Given the description of an element on the screen output the (x, y) to click on. 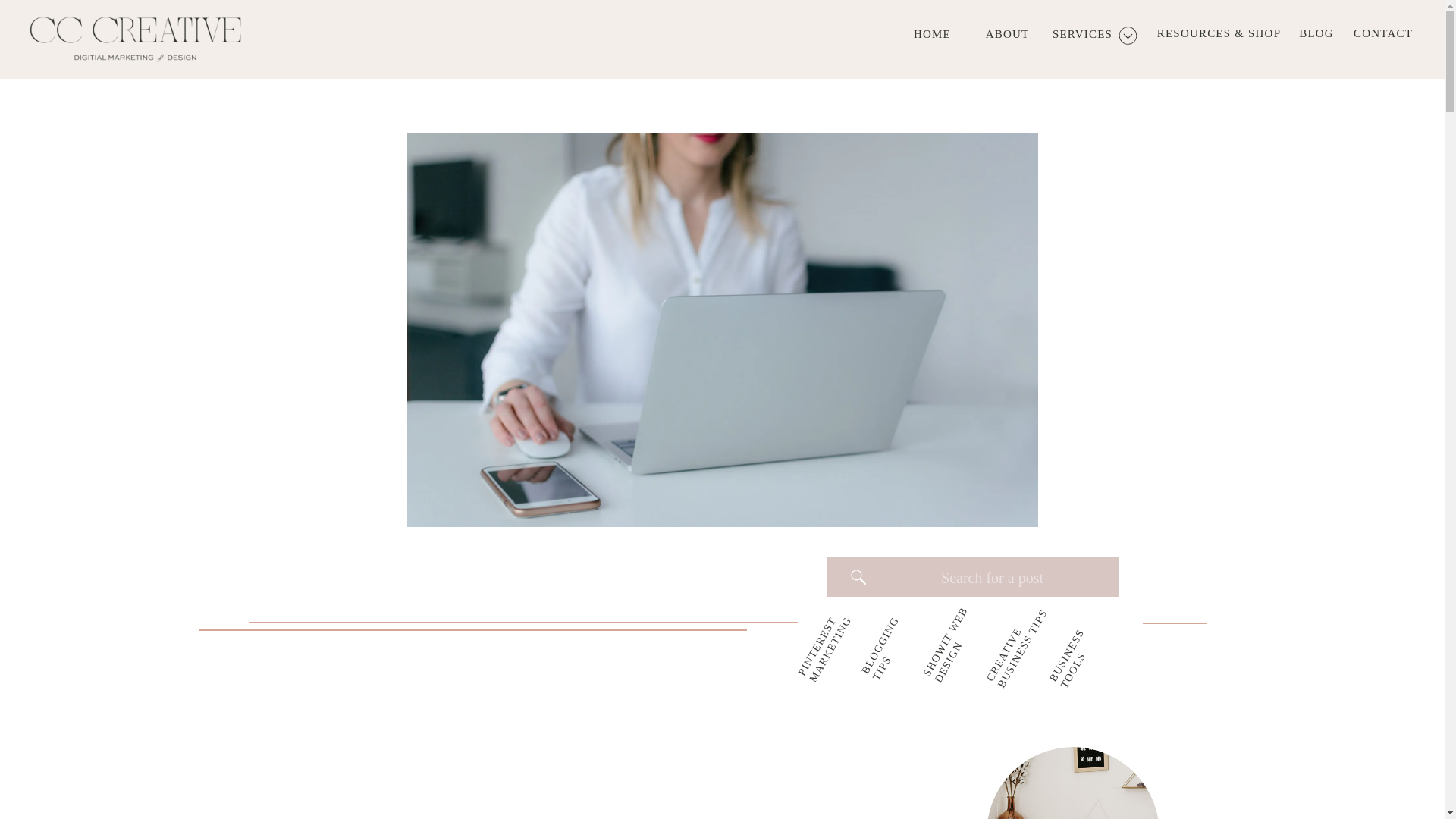
CREATIVE BUSINESS TIPS (1028, 607)
ABOUT (1007, 37)
SERVICES (1082, 37)
HOME (932, 37)
SHOWIT WEB DESIGN (959, 611)
BLOGGING TIPS (896, 624)
PINTEREST MARKETING (834, 618)
BUSINESS TOOLS  (1085, 629)
BLOG (1315, 37)
CONTACT (1382, 37)
